Given the description of an element on the screen output the (x, y) to click on. 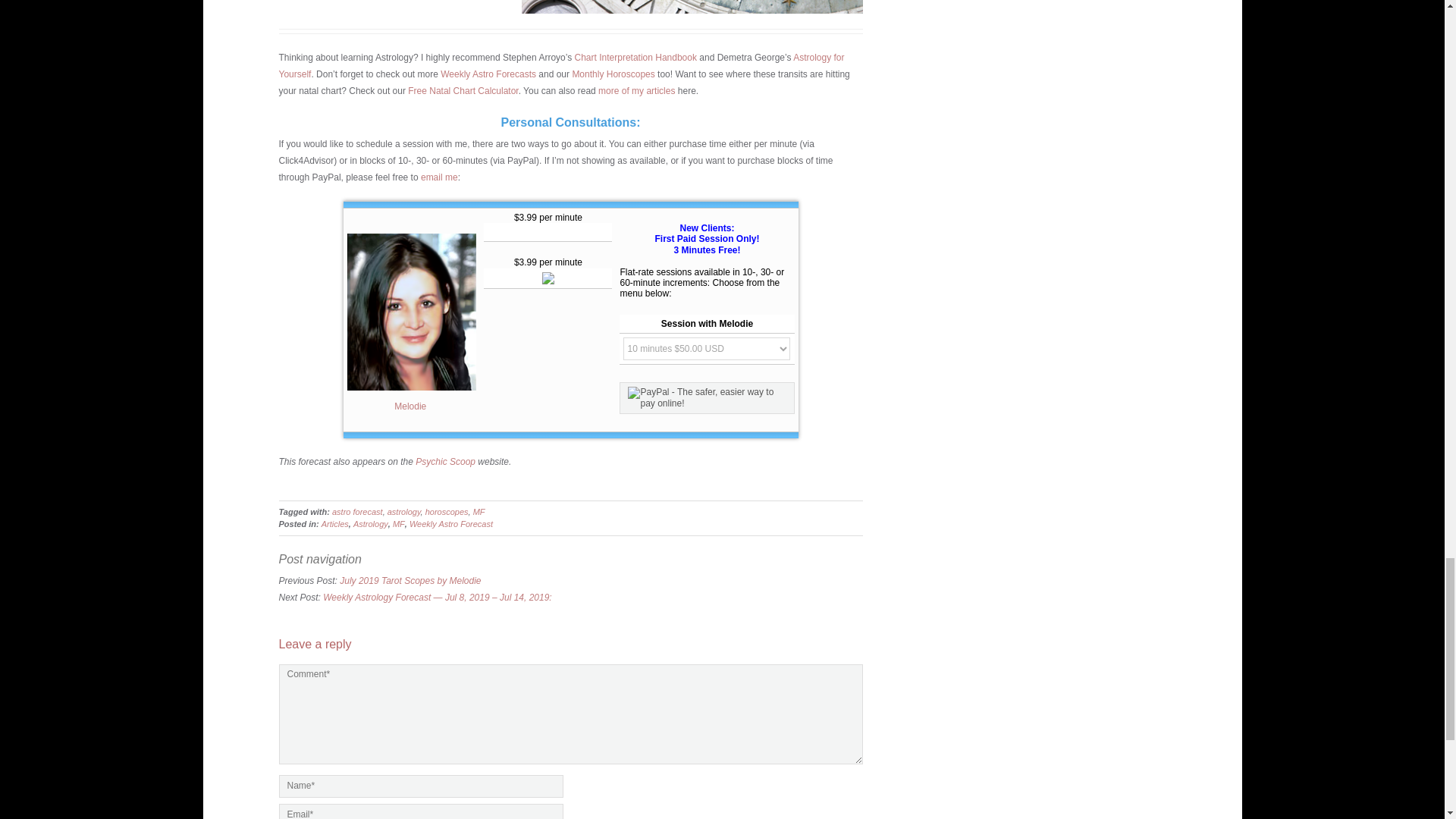
Melodie  (411, 406)
Weekly Astro Forecasts (488, 73)
Free Natal Chart Calculator (462, 90)
Astrology for Yourself (561, 65)
Chart Interpretation Handbook (636, 57)
email me (439, 176)
Monthly Horoscopes (612, 73)
more of my articles (636, 90)
